Given the description of an element on the screen output the (x, y) to click on. 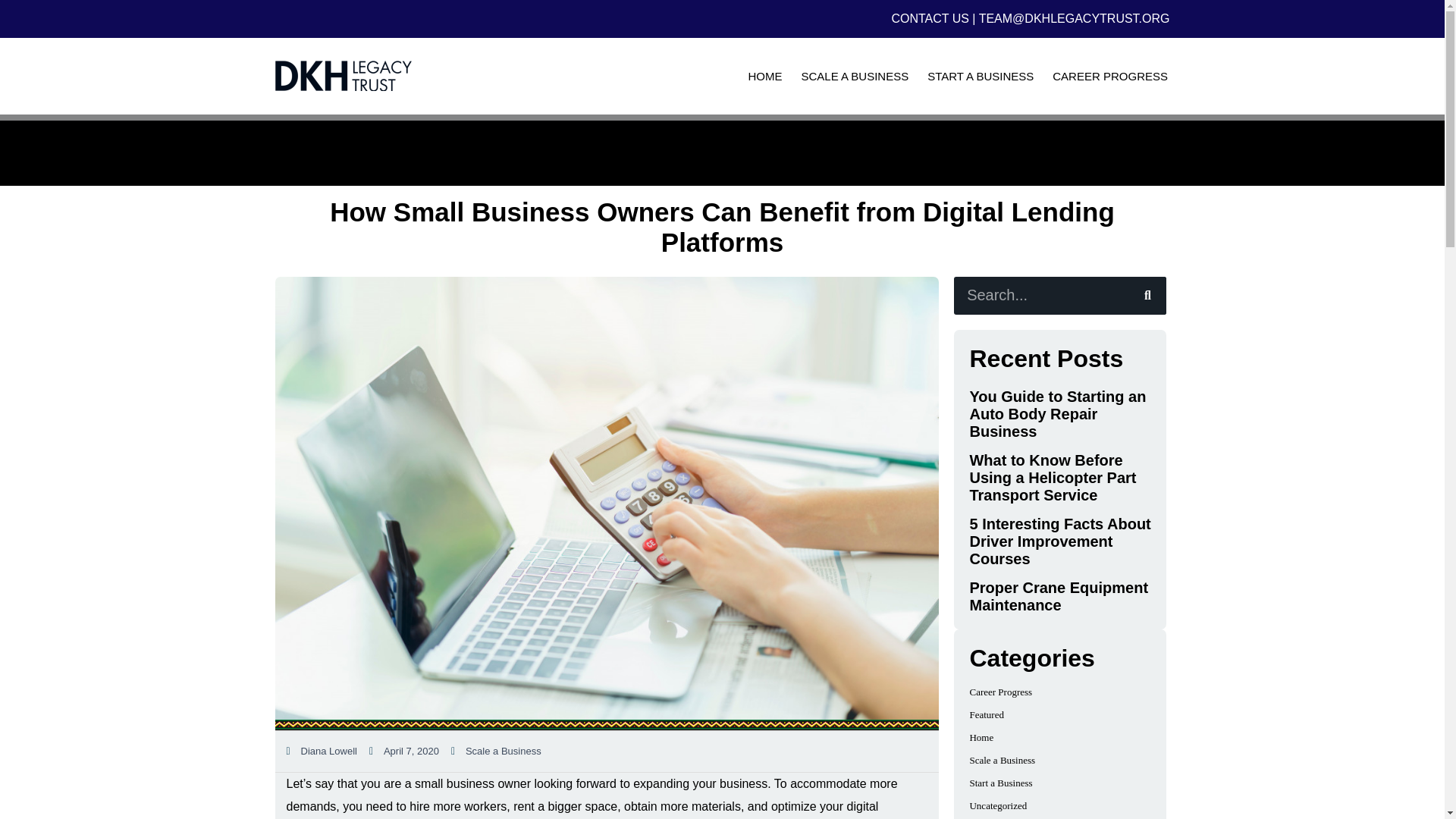
START A BUSINESS (980, 75)
Featured (986, 714)
Proper Crane Equipment Maintenance (1058, 596)
Uncategorized (997, 805)
You Guide to Starting an Auto Body Repair Business (1057, 413)
Start a Business (1000, 782)
5 Interesting Facts About Driver Improvement Courses (1059, 541)
Search (1147, 295)
HOME (765, 75)
Diana Lowell (321, 751)
SCALE A BUSINESS (855, 75)
April 7, 2020 (404, 751)
DKH-LEGACY-TRUST-LOGO (342, 75)
CAREER PROGRESS (1110, 75)
